Given the description of an element on the screen output the (x, y) to click on. 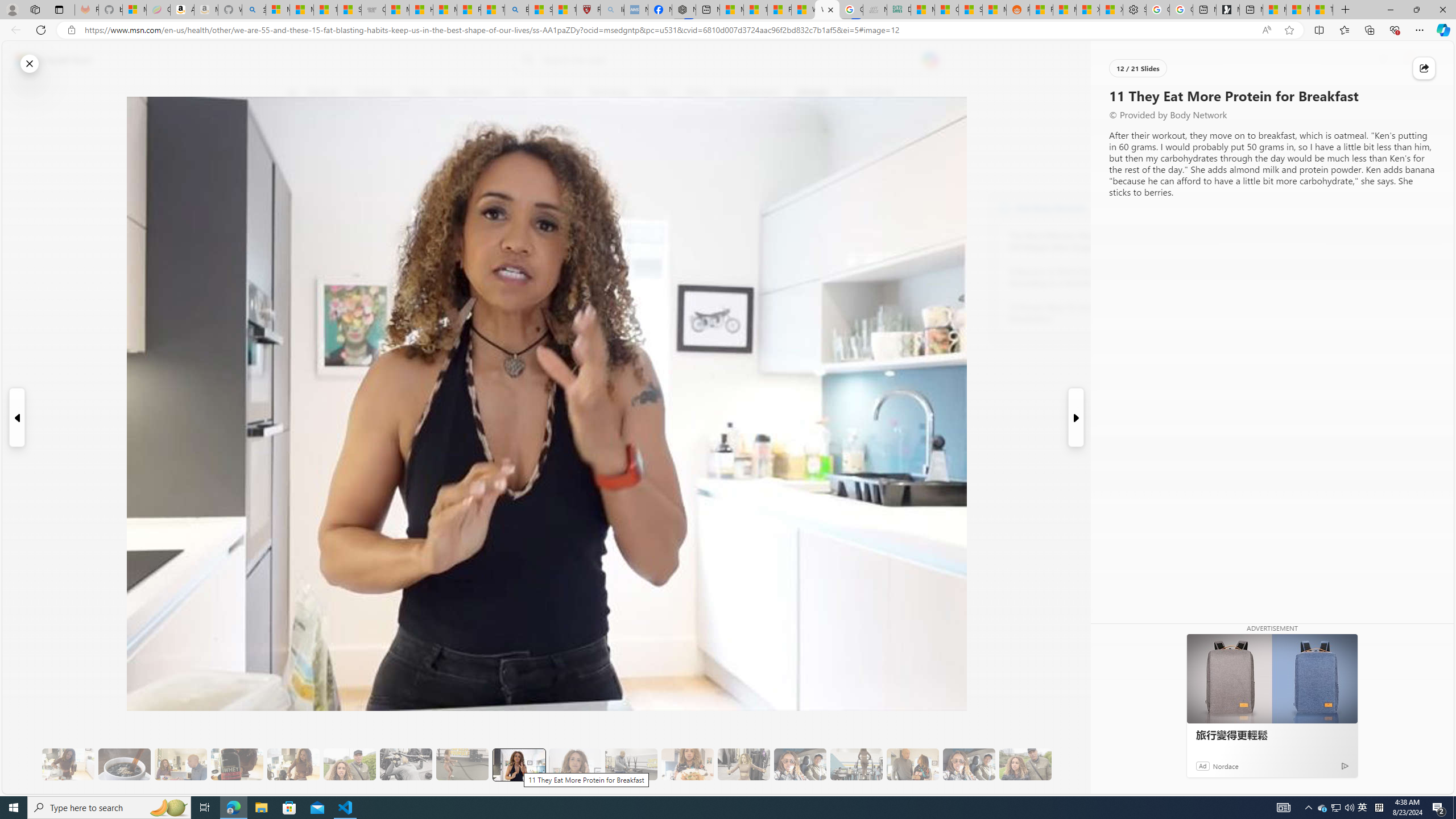
Visit Body Network website (1145, 207)
Open settings (1427, 60)
10 Then, They Do HIIT Cardio (462, 764)
19 It Also Simplifies Thiings (968, 764)
10 Then, They Do HIIT Cardio (462, 764)
Technology (608, 92)
To get missing image descriptions, open the context menu. (1109, 92)
